Given the description of an element on the screen output the (x, y) to click on. 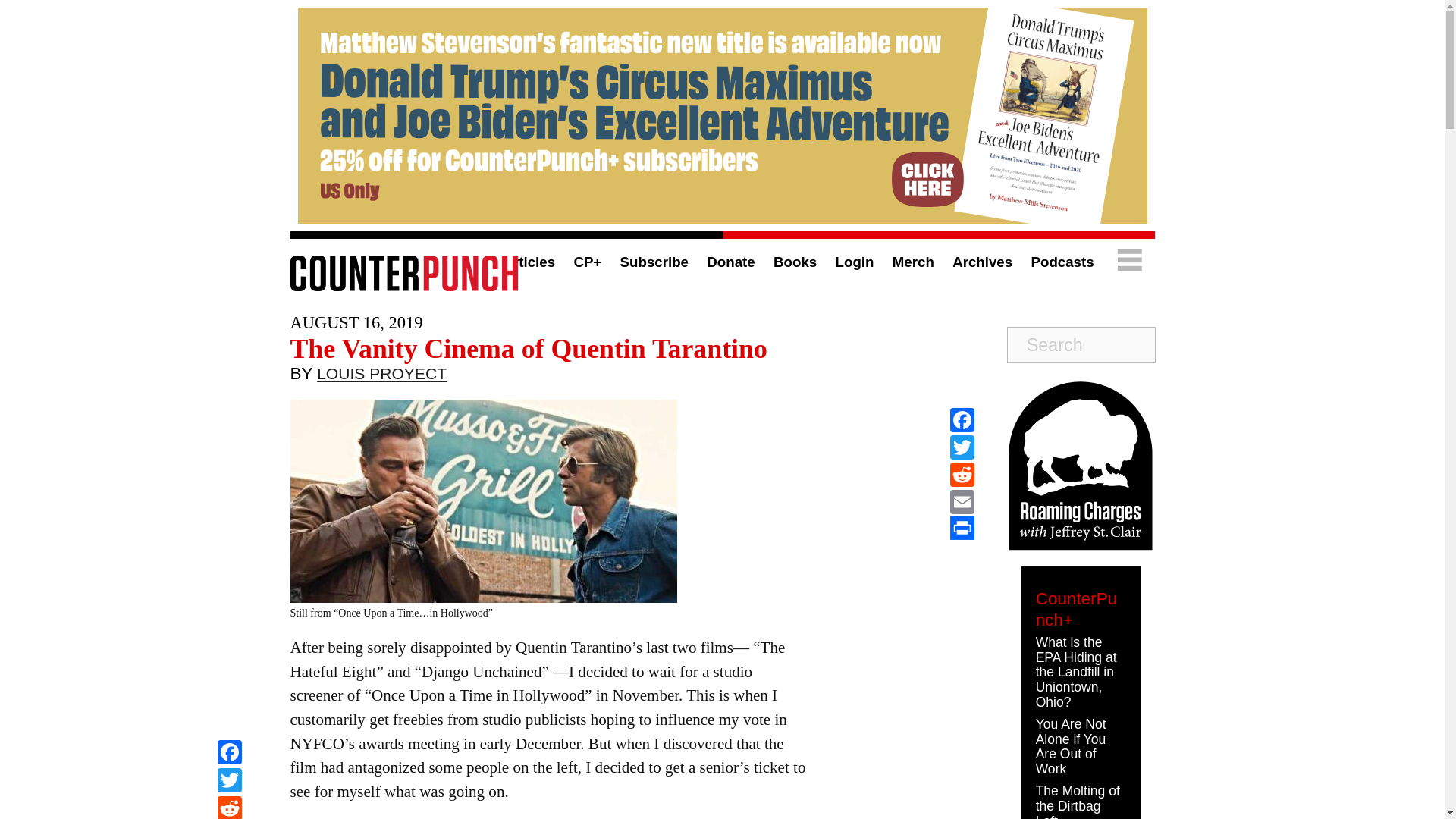
Donate (730, 261)
Reddit (229, 807)
Login (855, 261)
Email (962, 501)
Facebook (962, 420)
Twitter (962, 447)
Facebook (229, 754)
Podcasts (1061, 261)
Reddit (229, 807)
Books (794, 261)
The Vanity Cinema of Quentin Tarantino (528, 348)
Reddit (962, 474)
Facebook (229, 754)
Archives (981, 261)
Subscribe (654, 261)
